Given the description of an element on the screen output the (x, y) to click on. 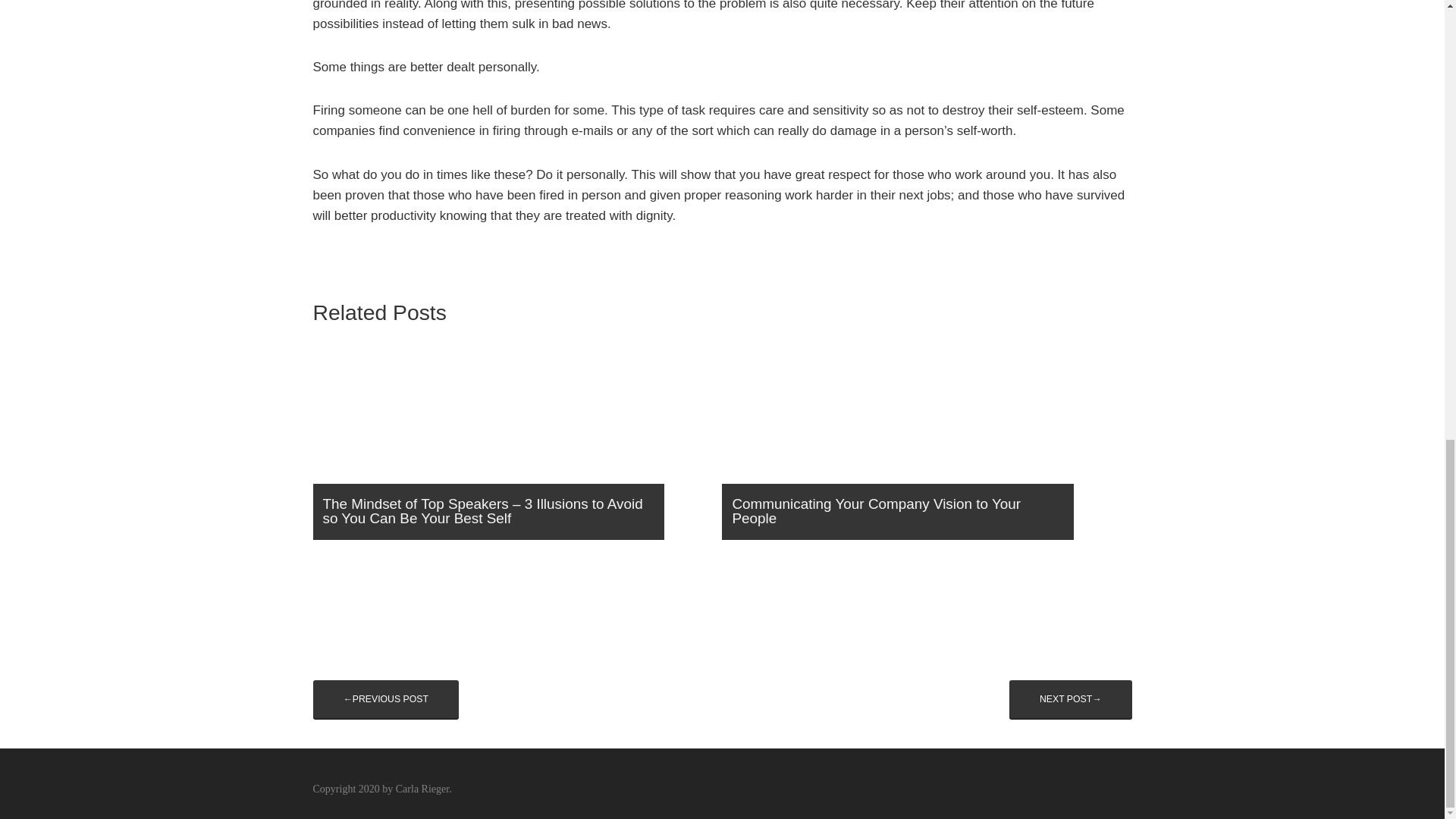
Communicating Your Company Vision to Your People (918, 445)
